Given the description of an element on the screen output the (x, y) to click on. 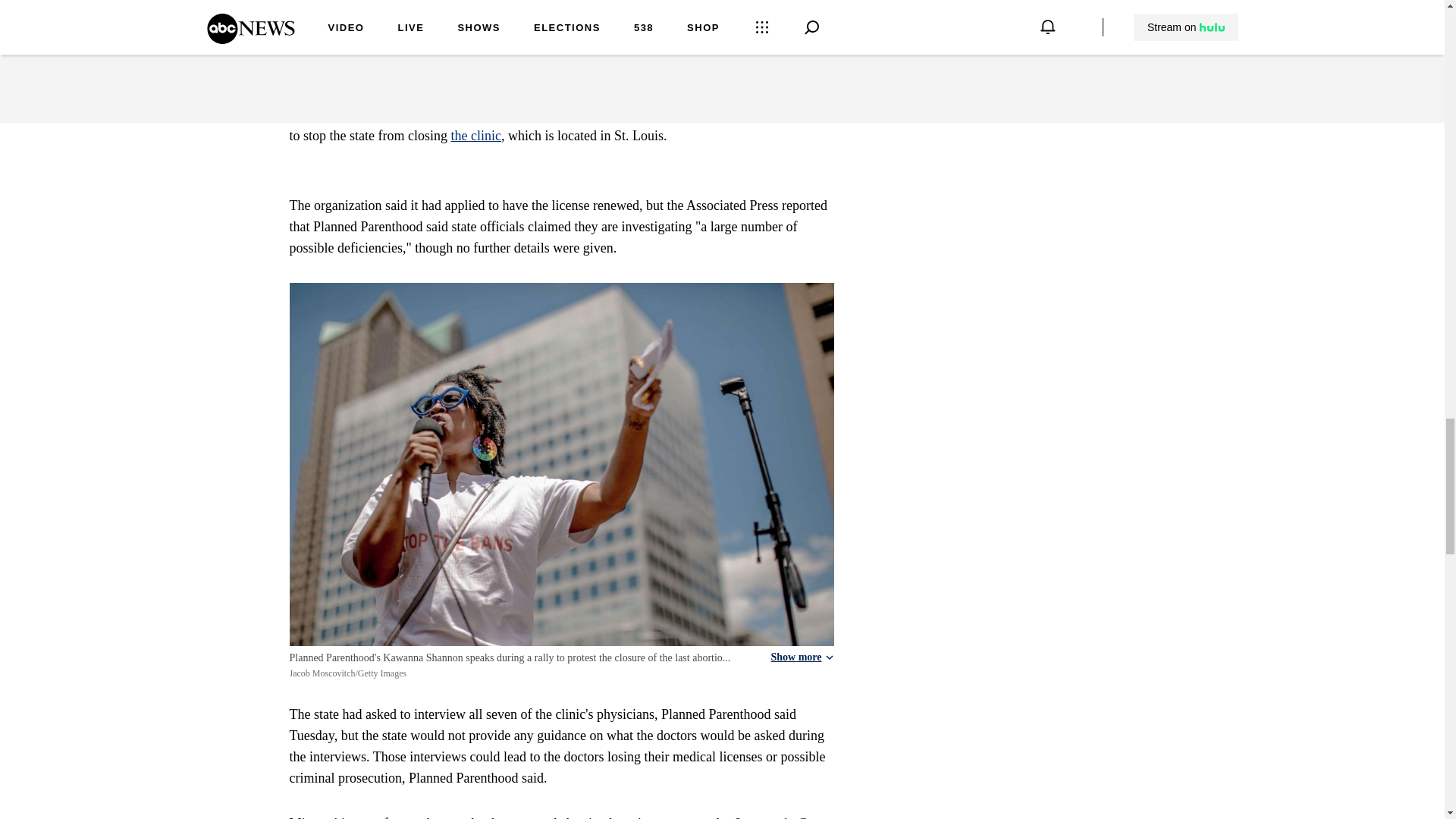
Show more (801, 657)
the clinic (474, 135)
